Given the description of an element on the screen output the (x, y) to click on. 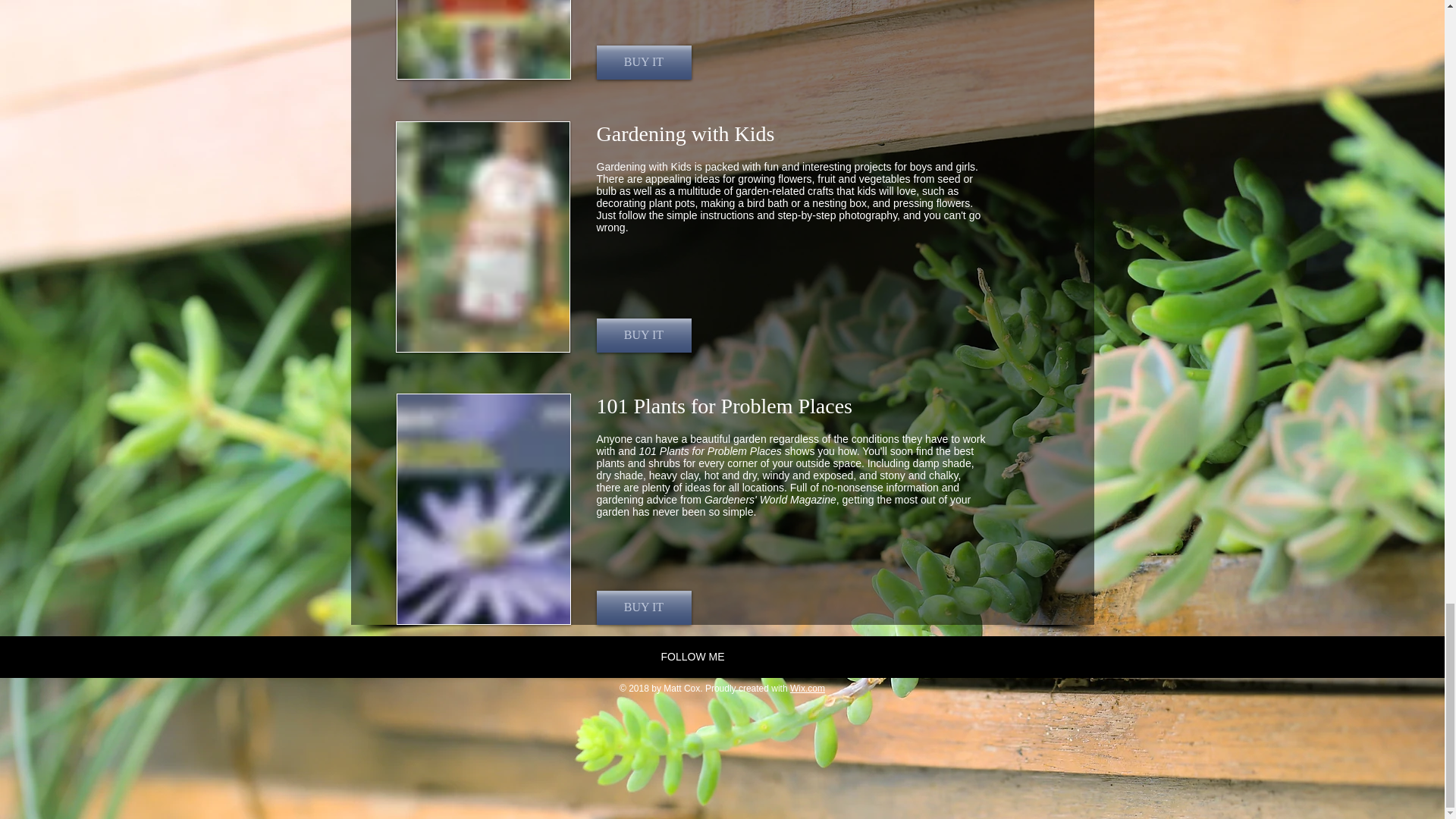
Wix.com (807, 688)
BUY IT (642, 607)
BUY IT (642, 335)
BUY IT (642, 62)
